Given the description of an element on the screen output the (x, y) to click on. 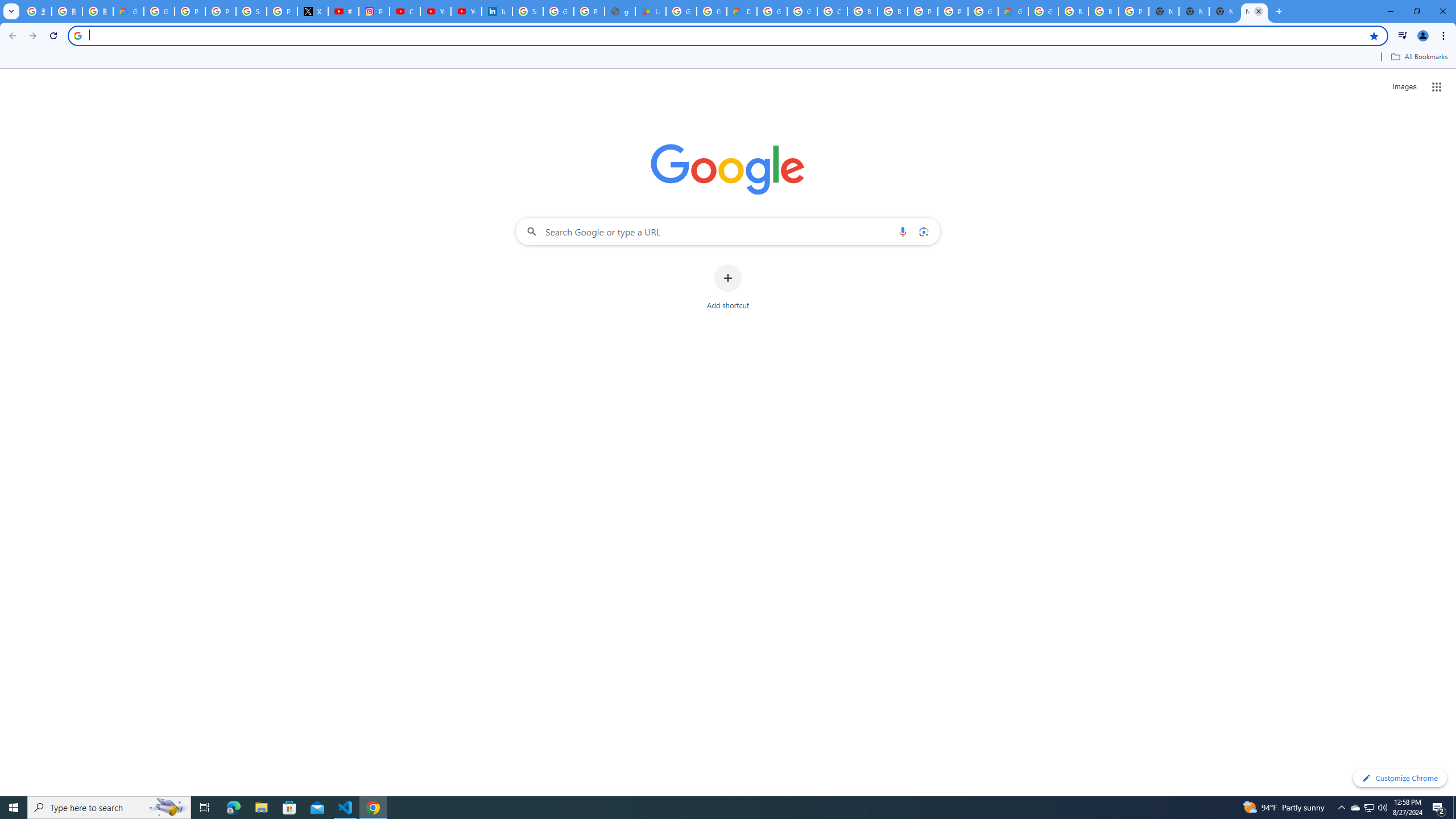
X (312, 11)
New Tab (1254, 11)
Sign in - Google Accounts (527, 11)
Google Cloud Platform (771, 11)
